Given the description of an element on the screen output the (x, y) to click on. 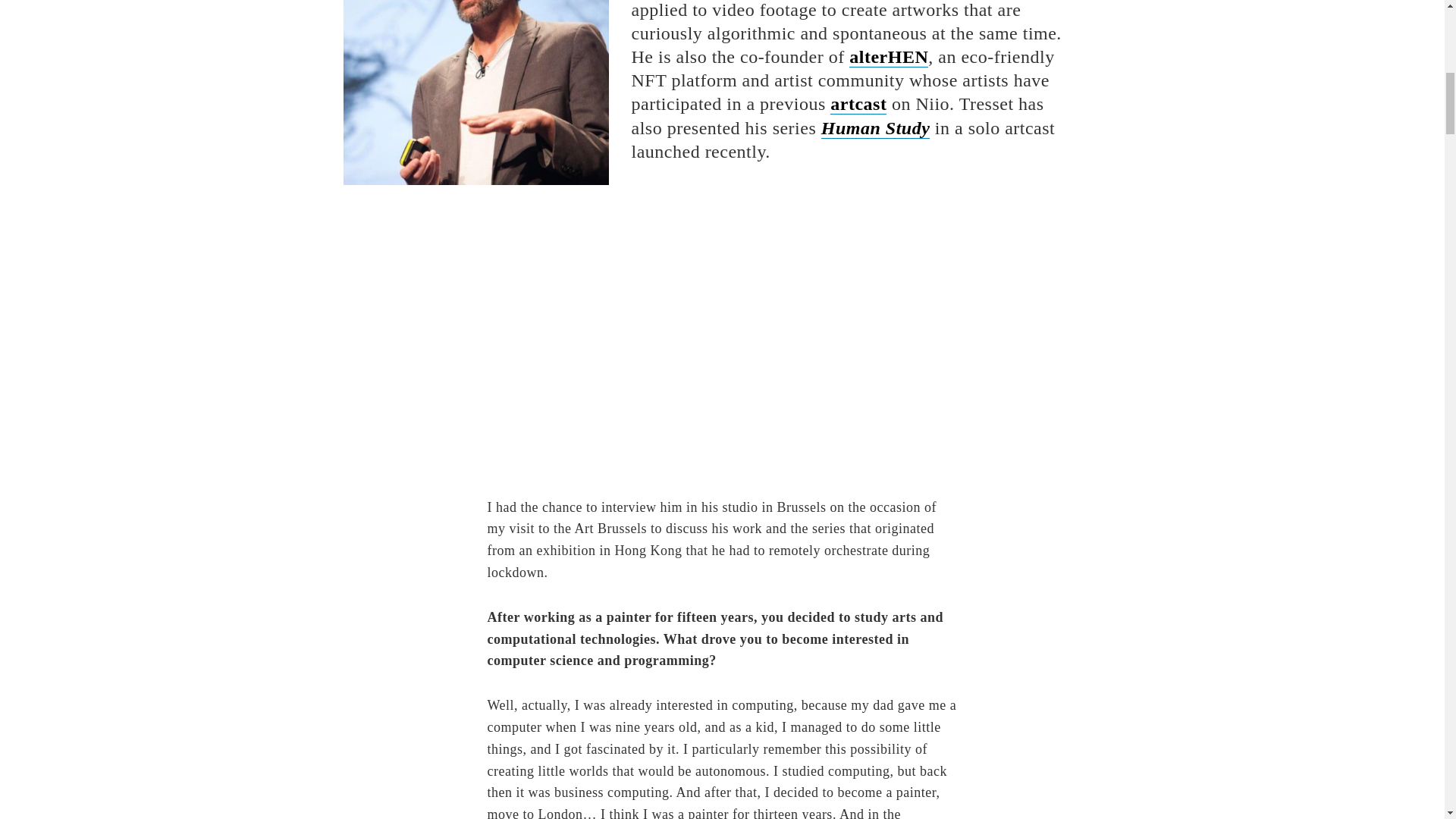
Patrick Tresset - Human Study interview (721, 341)
Human Study (875, 127)
artcast (857, 104)
alterHEN (888, 56)
